Given the description of an element on the screen output the (x, y) to click on. 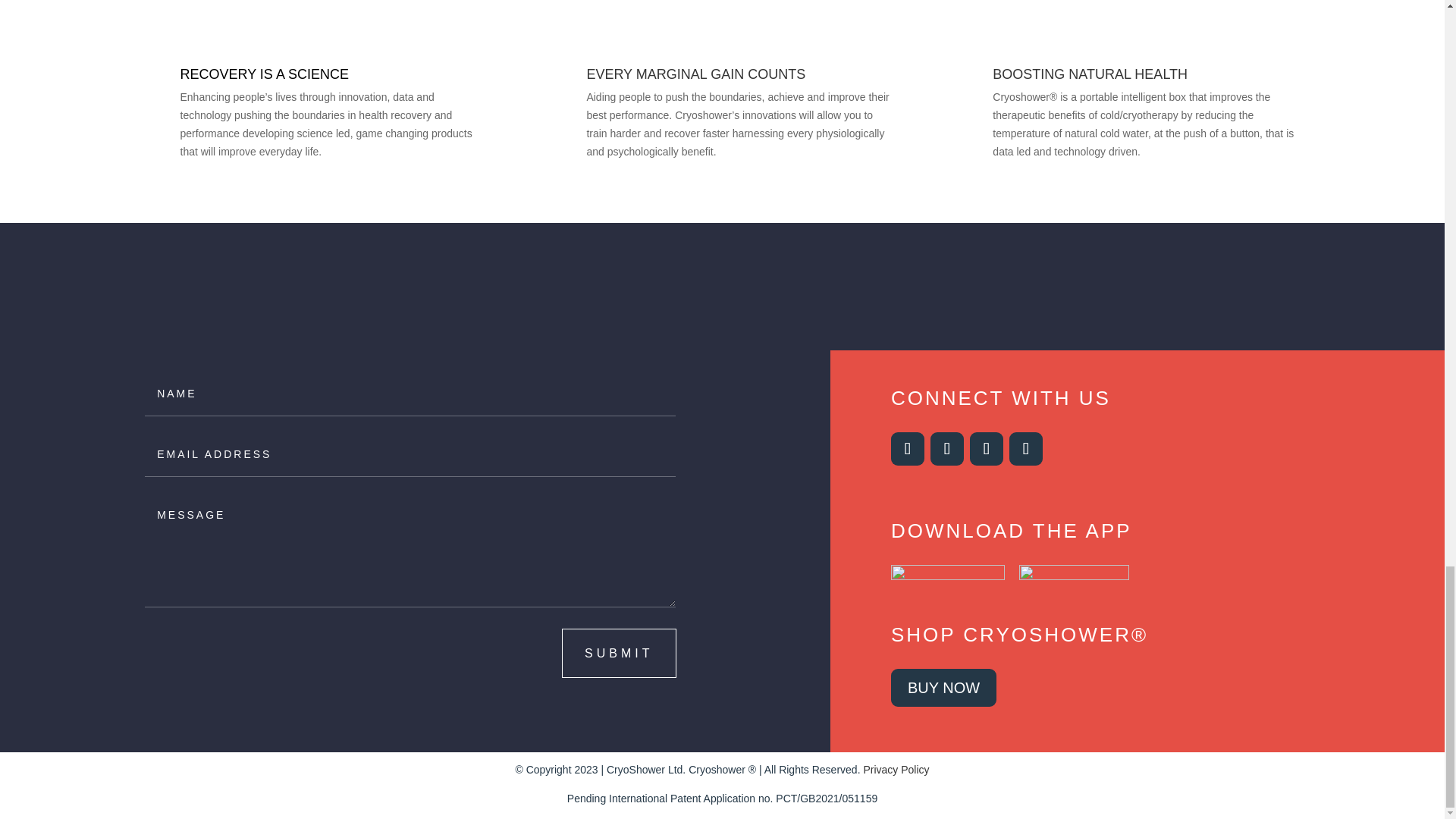
Follow on Facebook (946, 449)
SUBMIT (618, 653)
Privacy Policy (895, 769)
Follow on Youtube (986, 449)
BUY NOW (943, 687)
Follow on Pinterest (1025, 449)
Follow on Instagram (907, 449)
